Given the description of an element on the screen output the (x, y) to click on. 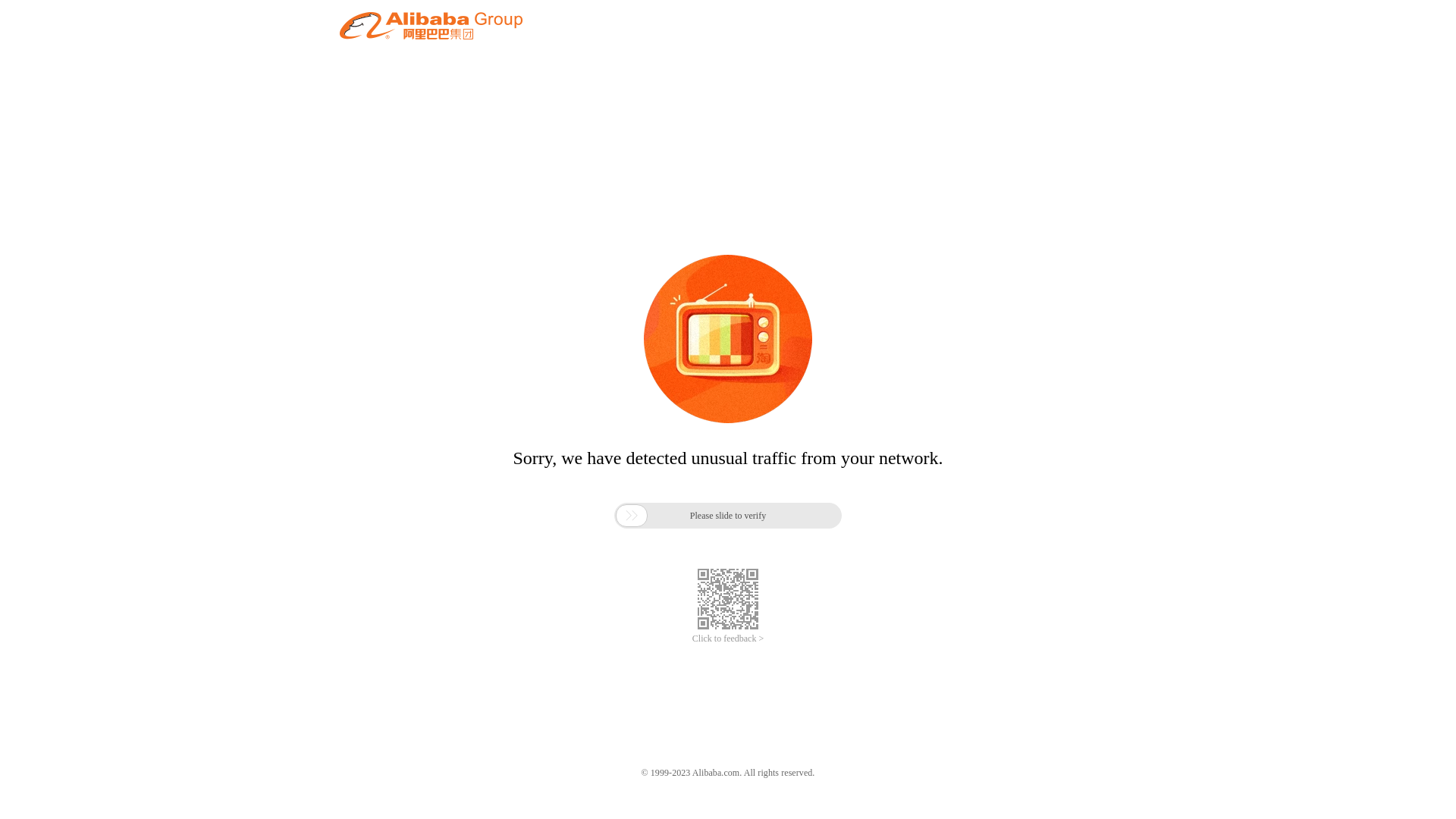
Click to feedback > Element type: text (727, 638)
